Given the description of an element on the screen output the (x, y) to click on. 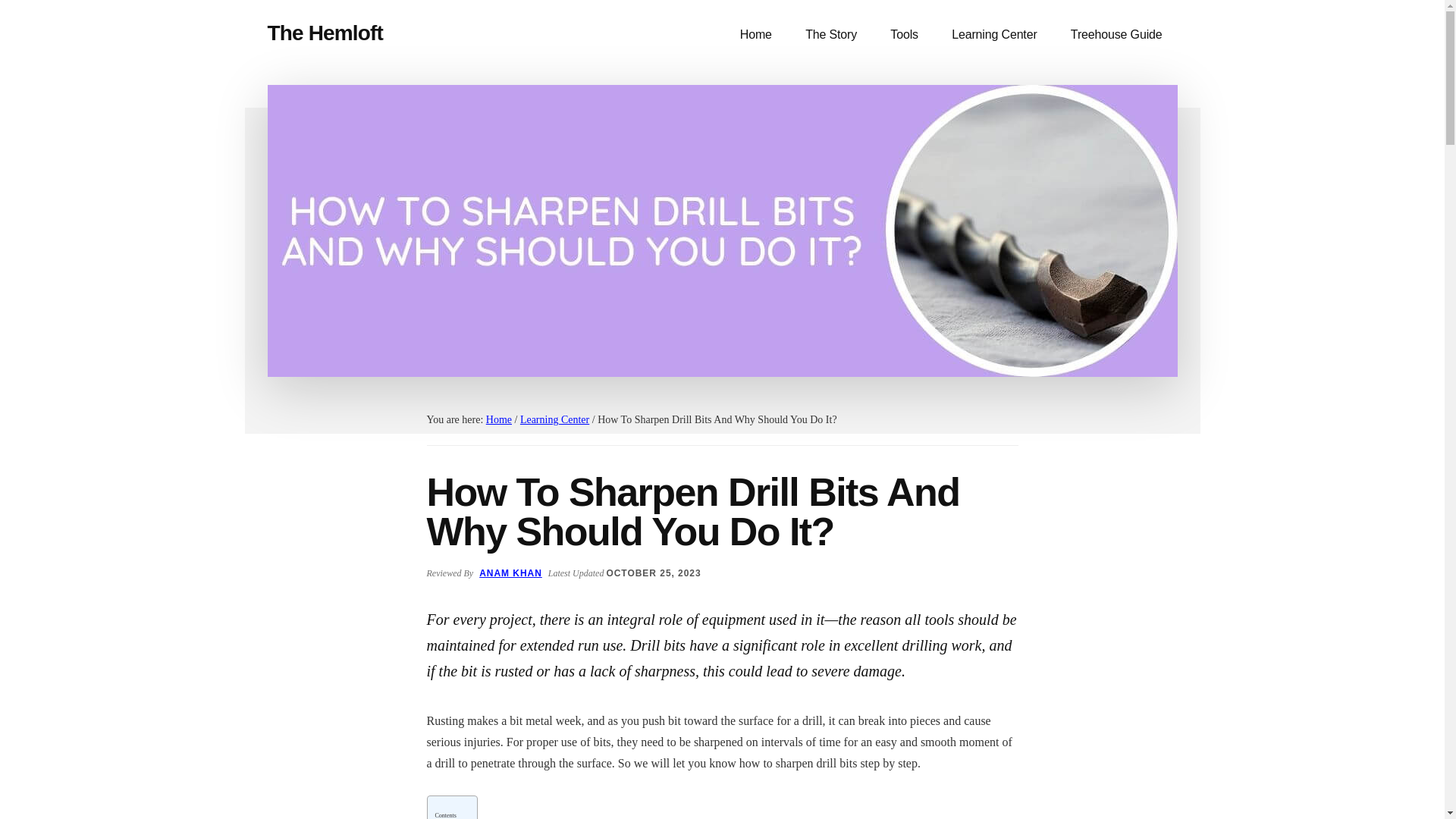
The Hemloft (324, 33)
Learning Center (993, 34)
Learning Center (554, 419)
Treehouse Guide (1116, 34)
Home (499, 419)
The Story (831, 34)
ANAM KHAN (510, 572)
Tools (904, 34)
Home (756, 34)
